Given the description of an element on the screen output the (x, y) to click on. 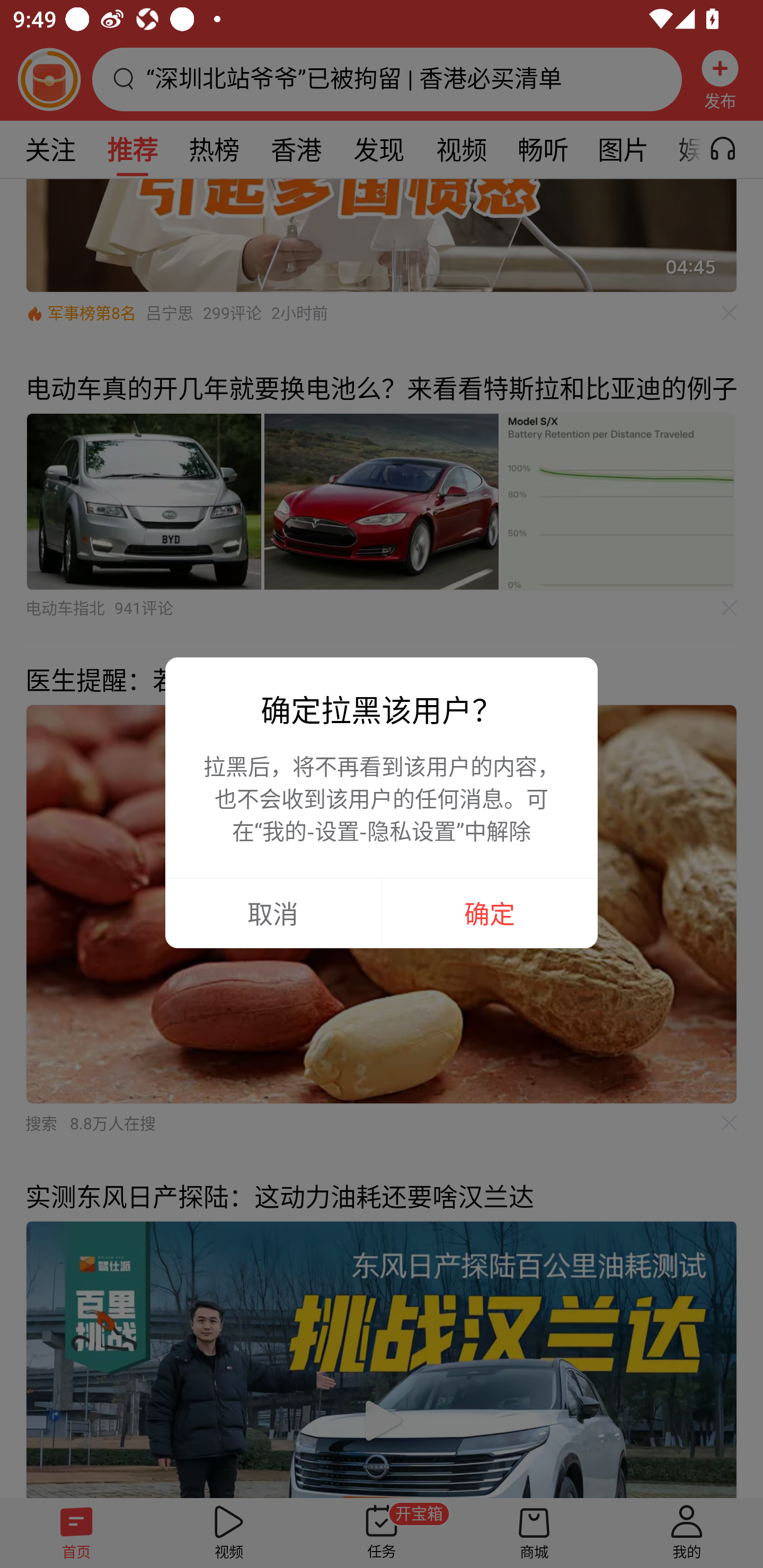
取消 (272, 913)
确定 (489, 913)
